Given the description of an element on the screen output the (x, y) to click on. 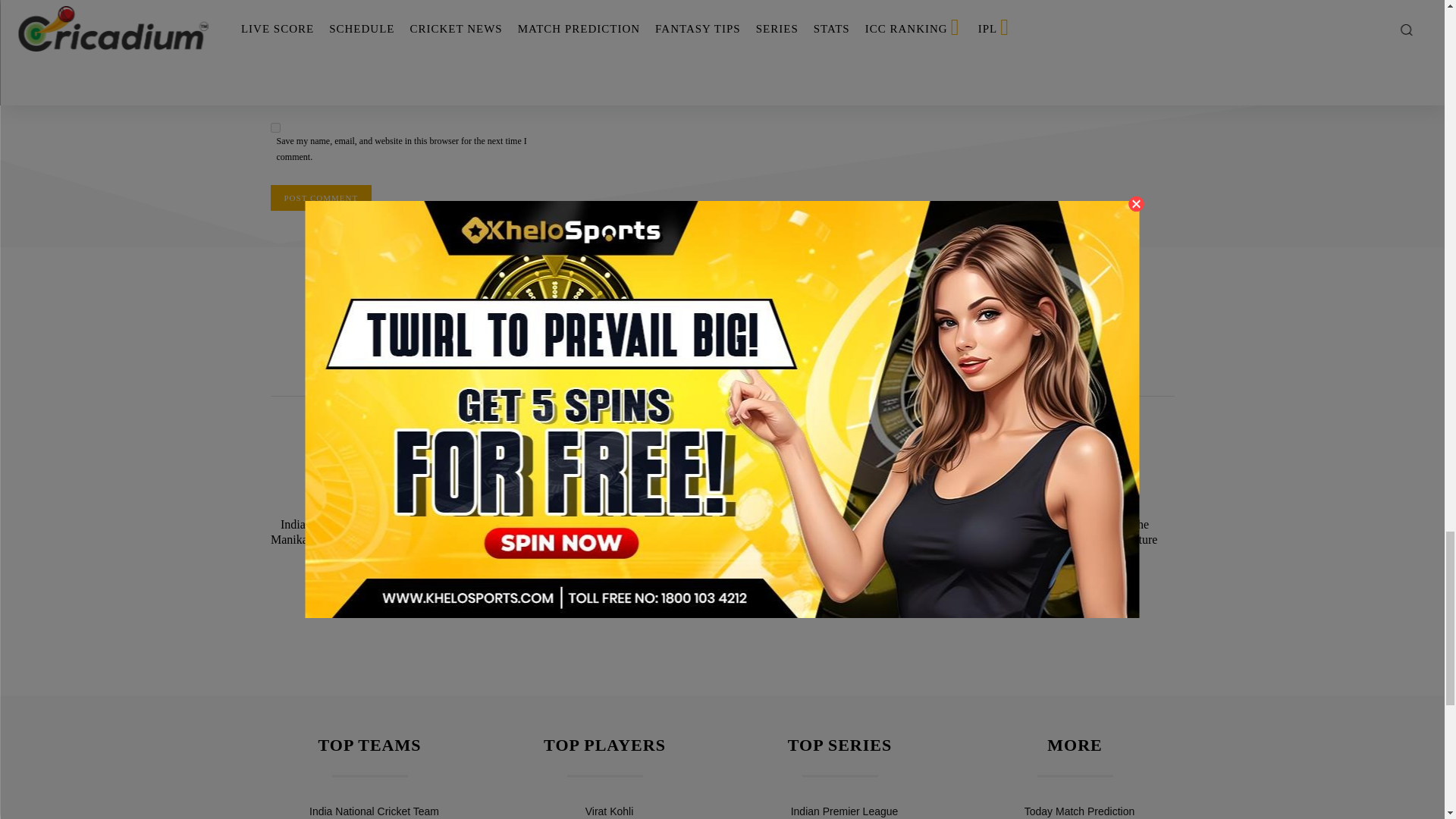
yes (274, 127)
Post Comment (320, 197)
